Given the description of an element on the screen output the (x, y) to click on. 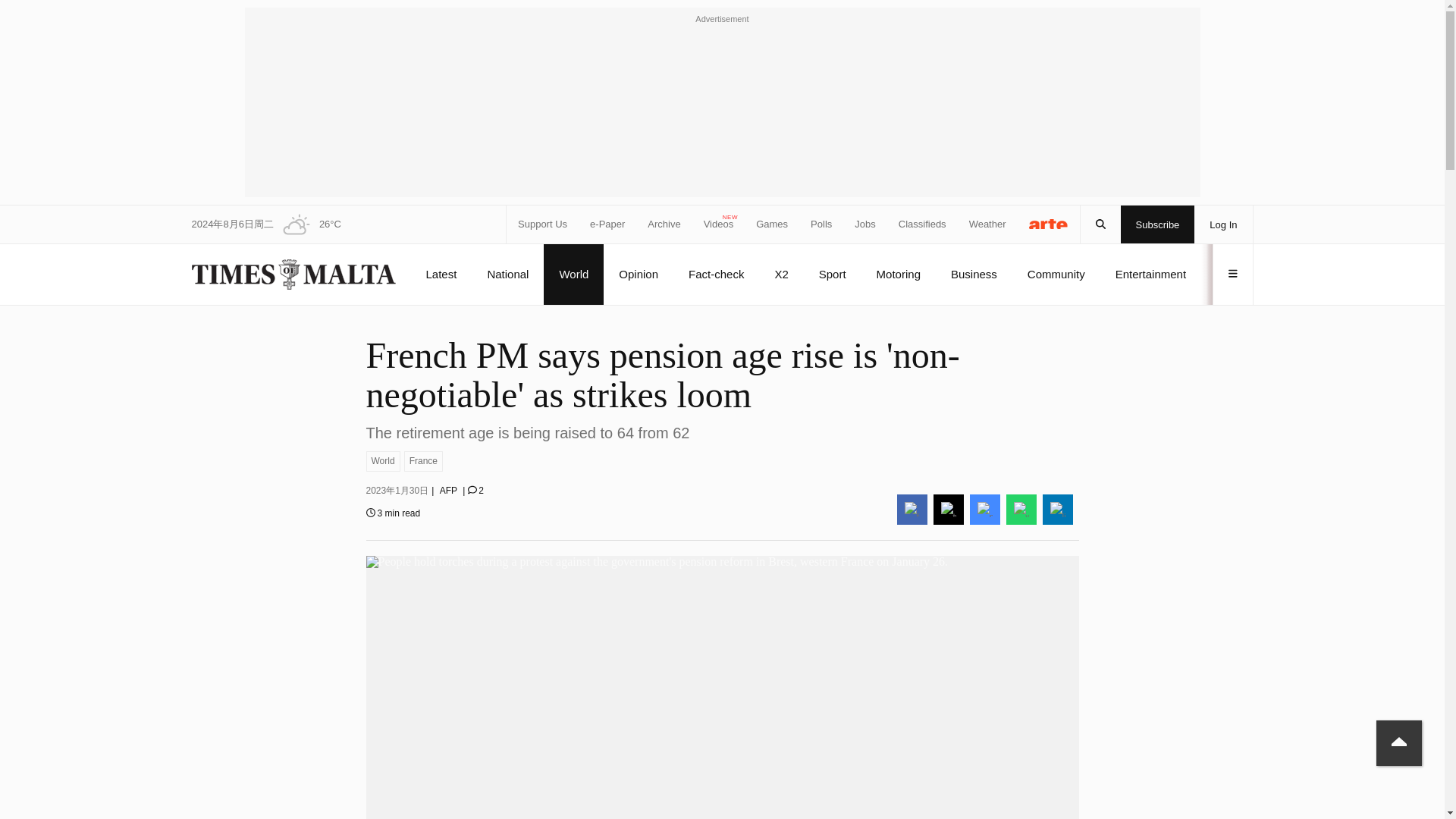
Community (1055, 274)
Subscribe (1158, 224)
2 (475, 490)
Weather (987, 224)
Support Us (542, 224)
France (423, 461)
Additional weather information (306, 224)
World (381, 461)
Fact-check (716, 274)
